Given the description of an element on the screen output the (x, y) to click on. 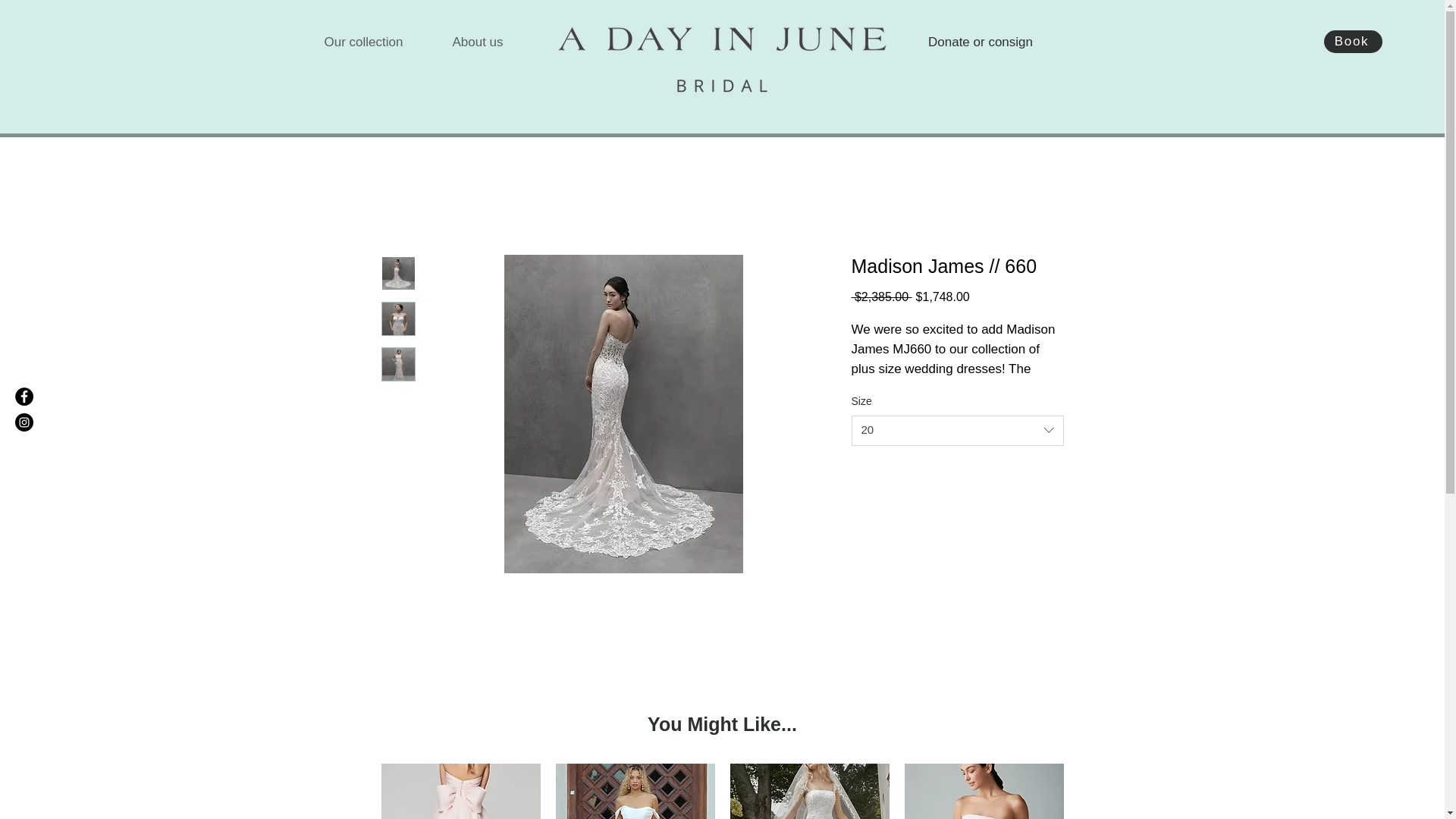
Book (1352, 41)
Donate or consign (979, 41)
20 (956, 430)
